Given the description of an element on the screen output the (x, y) to click on. 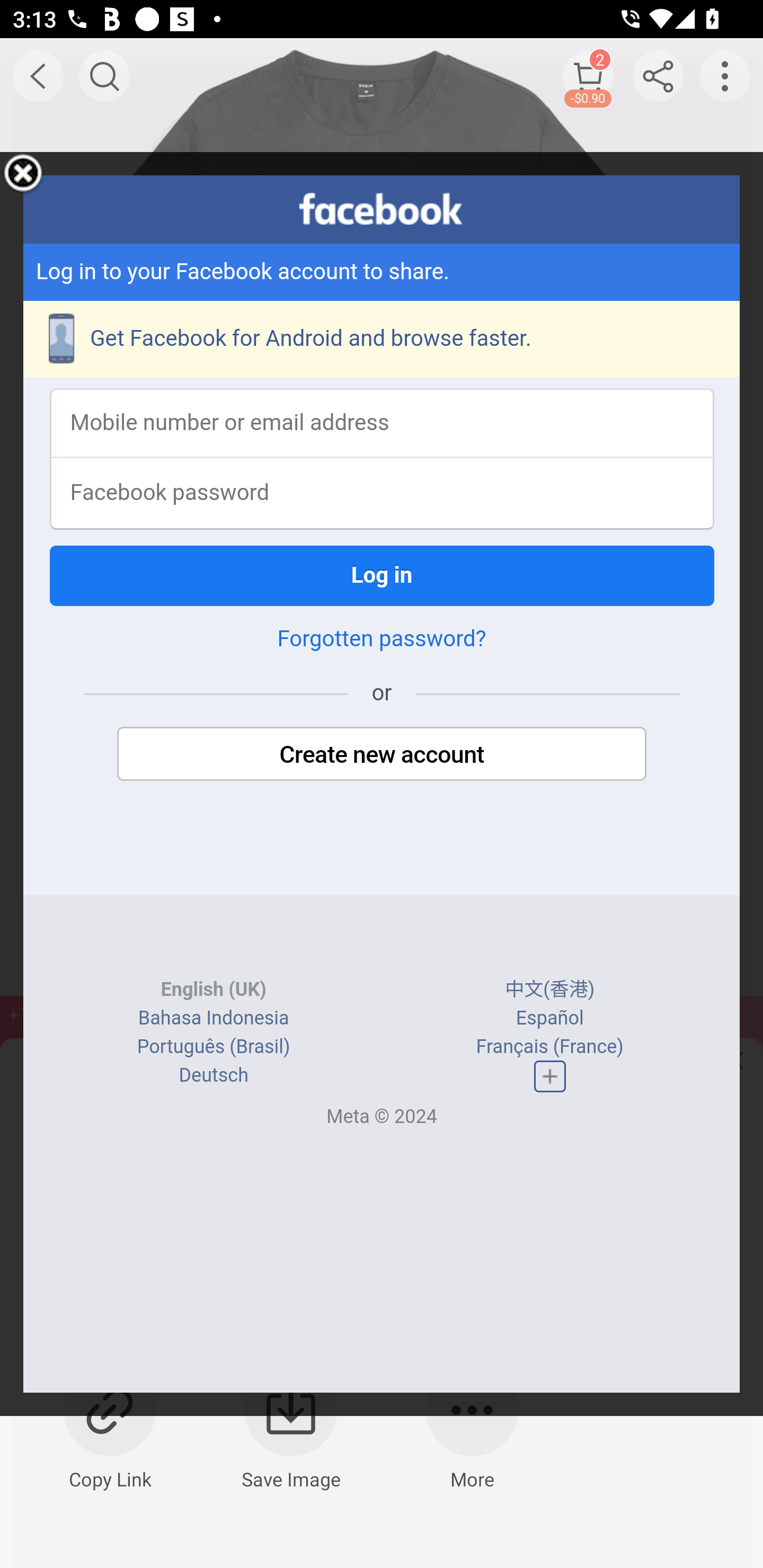
facebook (381, 208)
Get Facebook for Android and browse faster. (381, 339)
Log in (381, 575)
Forgotten password? (381, 638)
Create new account (381, 753)
中文(香港) (550, 989)
Bahasa Indonesia (214, 1018)
Español (549, 1018)
Português (Brasil) (212, 1046)
Français (France) (549, 1046)
Complete list of languages (548, 1075)
Deutsch (212, 1075)
